Given the description of an element on the screen output the (x, y) to click on. 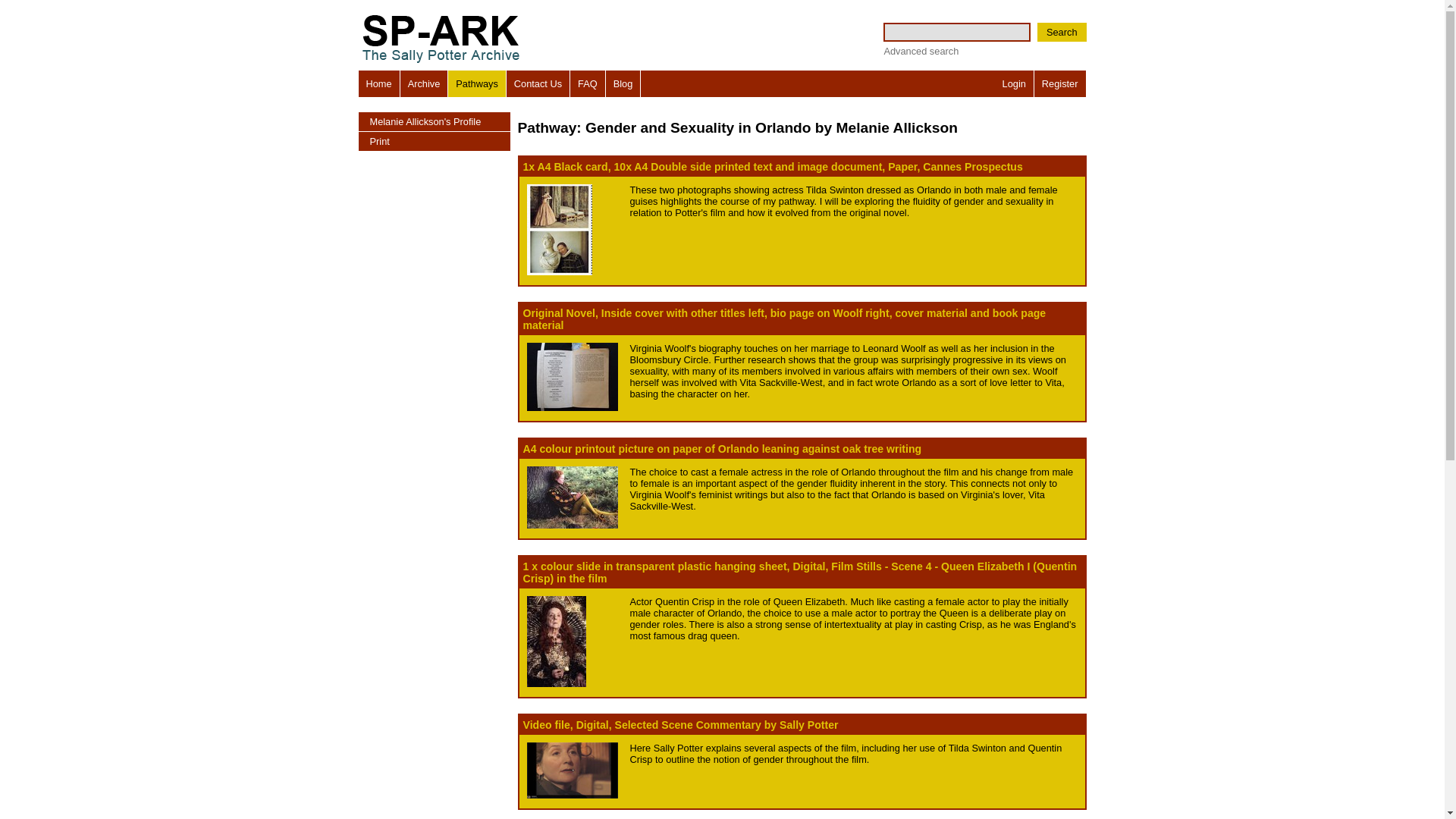
Print (433, 141)
Pathways (476, 83)
Contact Us (538, 83)
Archive (424, 83)
FAQ (587, 83)
Melanie Allickson's Profile (433, 121)
Home (378, 83)
Blog (623, 83)
